Given the description of an element on the screen output the (x, y) to click on. 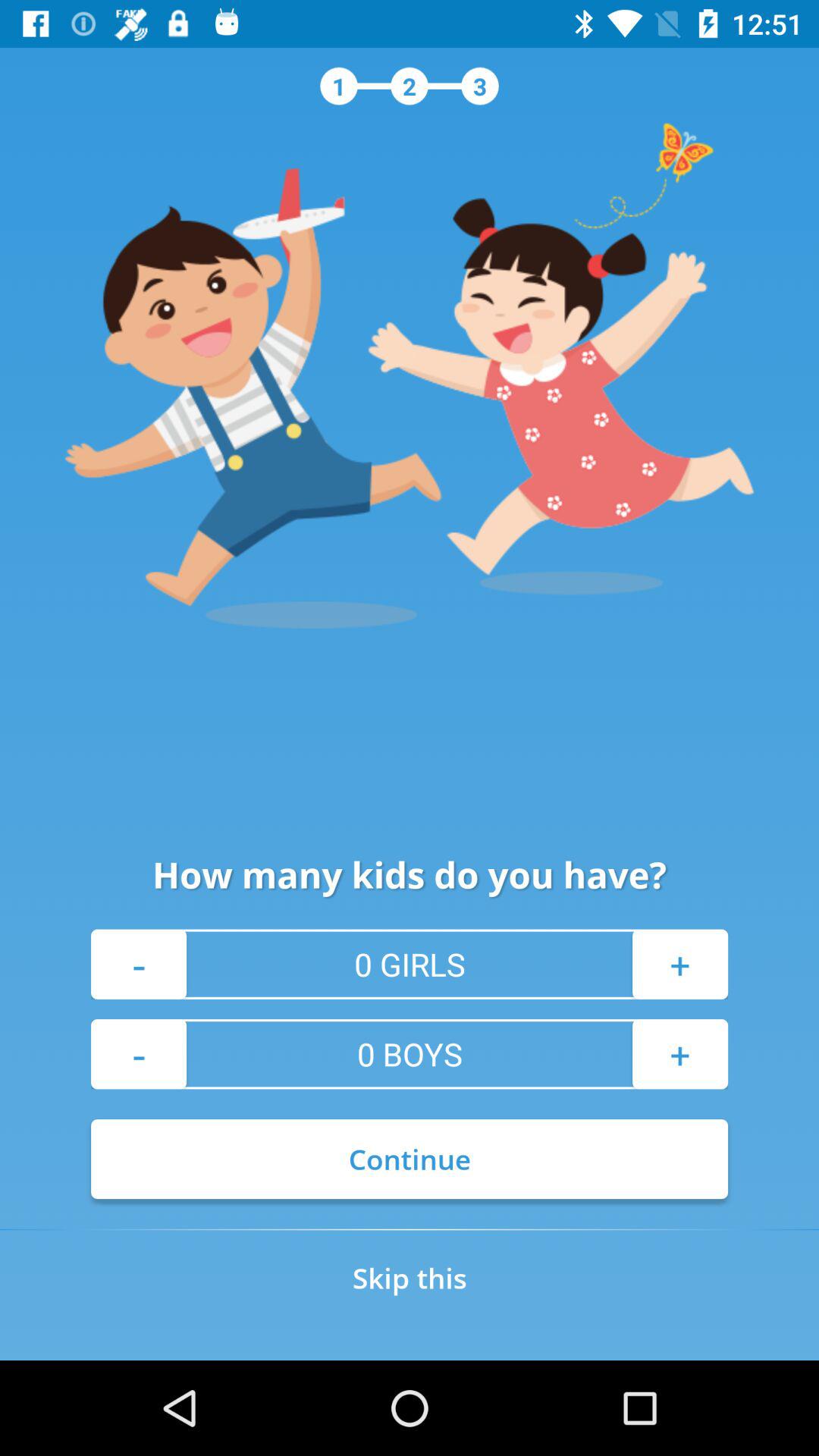
turn off - (138, 1054)
